Given the description of an element on the screen output the (x, y) to click on. 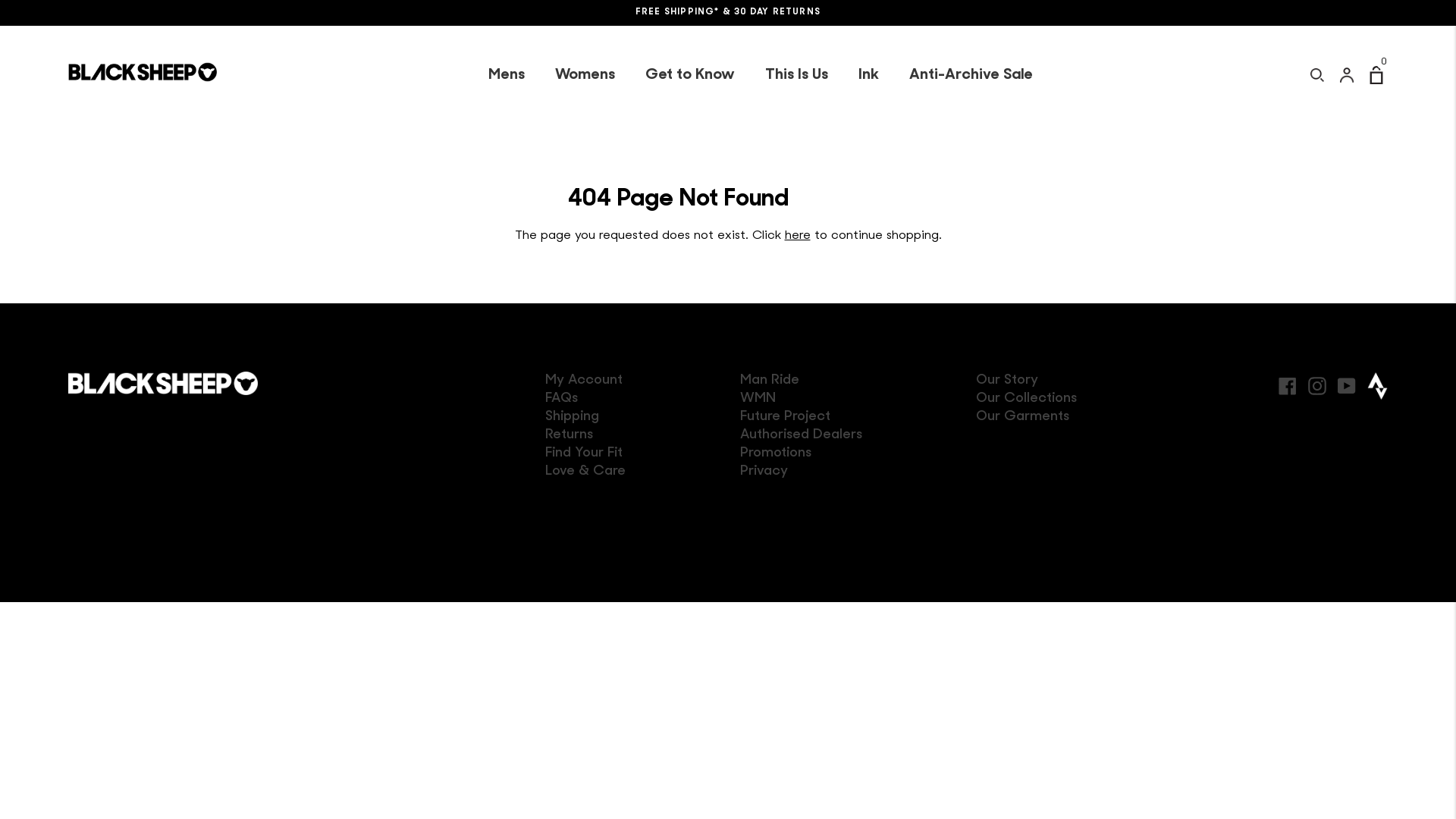
here Element type: text (796, 235)
Find Your Fit Element type: text (583, 452)
Privacy Element type: text (763, 471)
My Account Element type: text (583, 380)
Black Sheep Cycling on Strava Element type: hover (1377, 385)
FAQs Element type: text (561, 398)
Our Garments Element type: text (1022, 416)
Promotions Element type: text (775, 452)
Anti-Archive Sale Element type: text (970, 74)
Man Ride Element type: text (769, 380)
Returns Element type: text (569, 434)
Our Collections Element type: text (1025, 398)
FREE SHIPPING* & 30 DAY RETURNS Element type: text (727, 12)
This Is Us Element type: text (795, 74)
Authorised Dealers Element type: text (801, 434)
Shipping Element type: text (572, 416)
Love & Care Element type: text (585, 471)
Mens Element type: text (506, 74)
Our Story Element type: text (1006, 380)
Get to Know Element type: text (689, 74)
Womens Element type: text (584, 74)
Ink Element type: text (868, 74)
WMN Element type: text (757, 398)
Black Sheep Cycling on YouTube Element type: hover (1346, 383)
Future Project Element type: text (785, 416)
Black Sheep Cycling on Instagram Element type: hover (1317, 383)
0 Element type: text (1378, 74)
Black Sheep Cycling on Facebook Element type: hover (1287, 383)
